Given the description of an element on the screen output the (x, y) to click on. 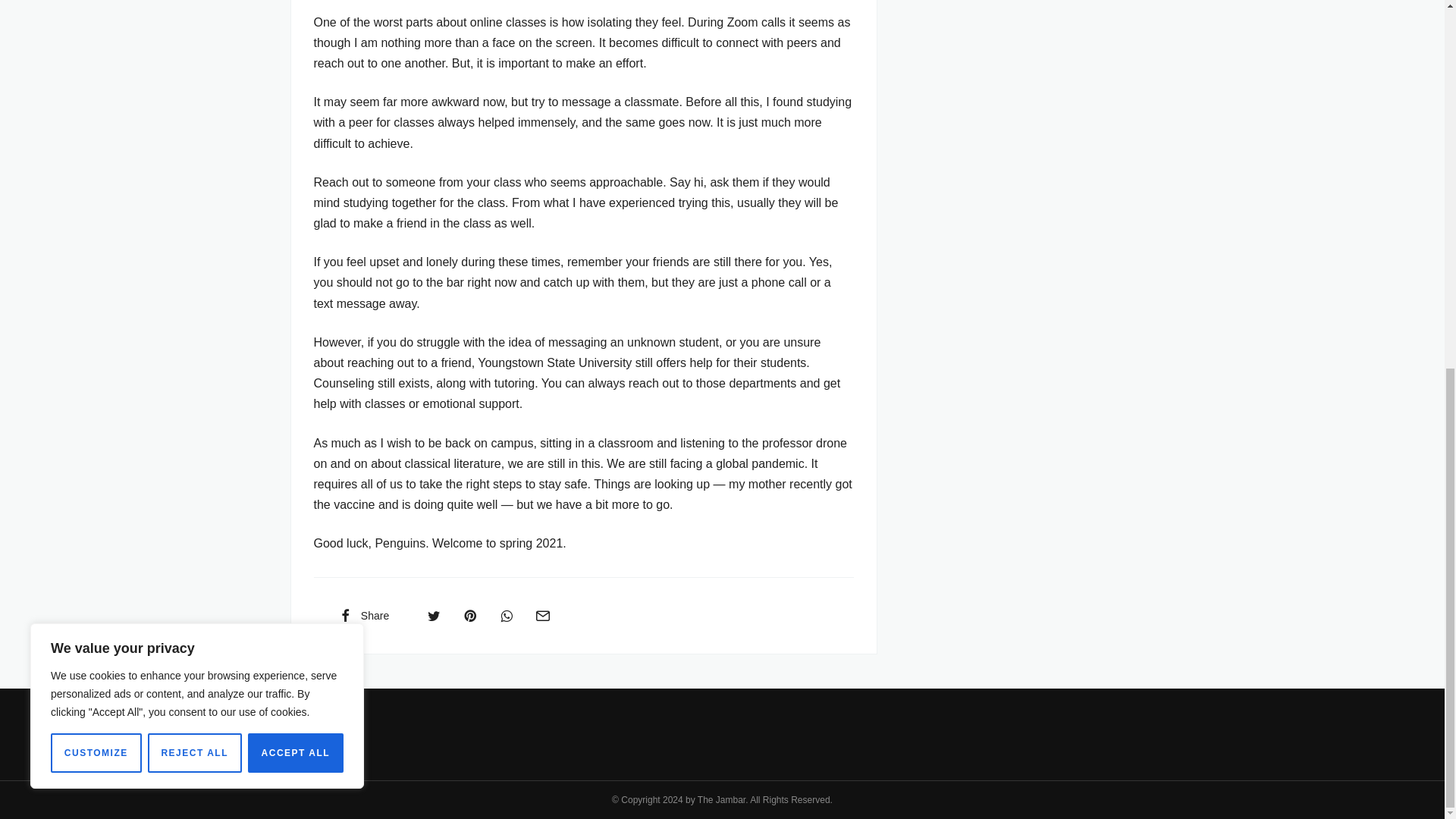
Pin this Post (469, 615)
ACCEPT ALL (295, 87)
Share on Facebook (363, 615)
REJECT ALL (194, 87)
Share on Twitter (433, 615)
Share on Whatsapp (506, 615)
CUSTOMIZE (95, 87)
Share via Email (542, 615)
